Given the description of an element on the screen output the (x, y) to click on. 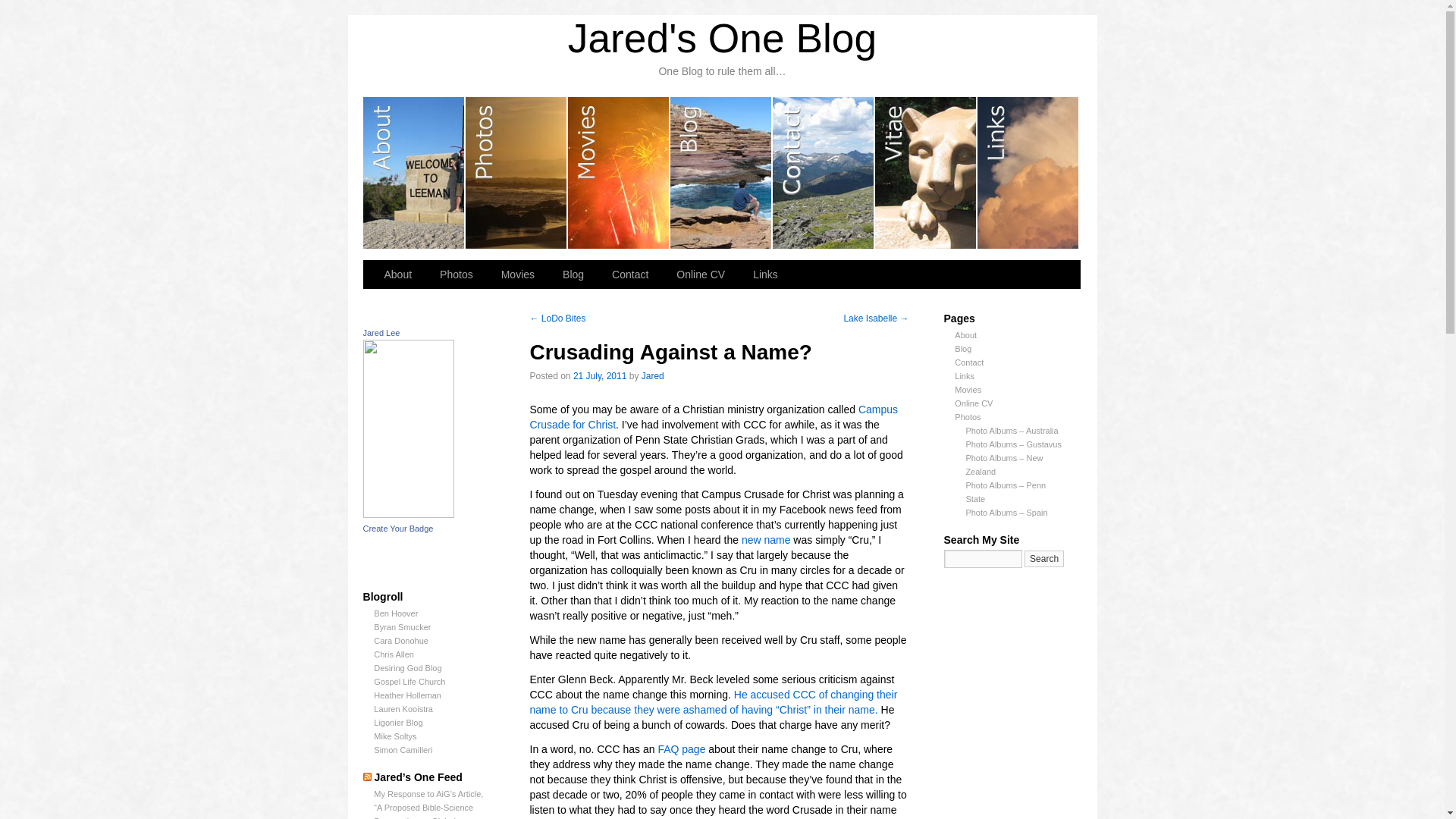
11:45 pm (600, 376)
Byran Smucker (402, 626)
Ben Hoover (395, 613)
Movies (519, 274)
View all posts by Jared (652, 376)
Gospel Life Church (409, 681)
Jared Lee (407, 513)
Links (767, 274)
Simon Camilleri (403, 749)
Mike Soltys (395, 736)
